Given the description of an element on the screen output the (x, y) to click on. 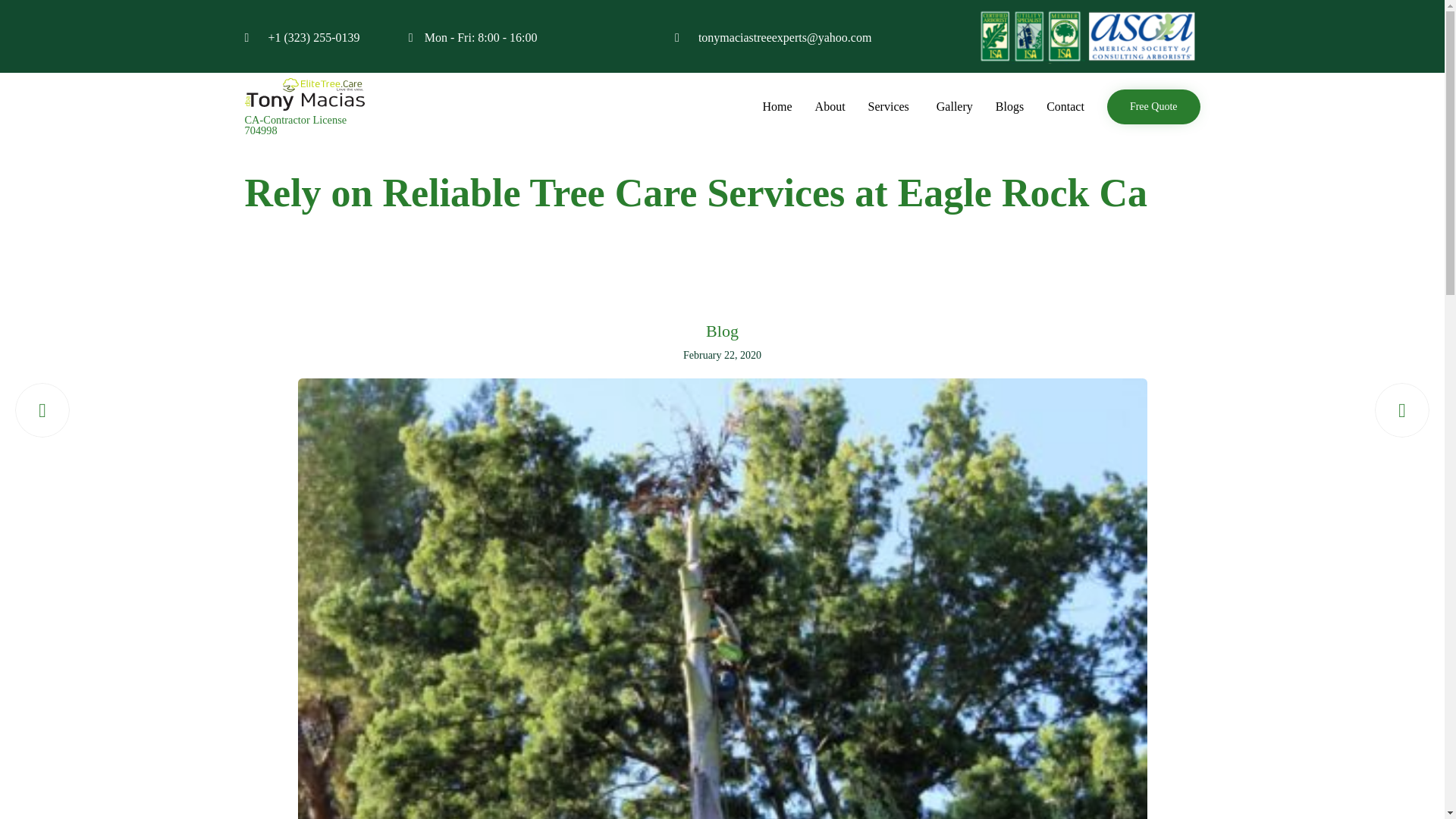
top green (1085, 36)
About (830, 106)
Blogs (1009, 106)
Blog (722, 332)
Contact (1065, 106)
Home (777, 106)
Free Quote (1152, 106)
EliteTree.Care (304, 93)
Services (890, 106)
Gallery (954, 106)
